Given the description of an element on the screen output the (x, y) to click on. 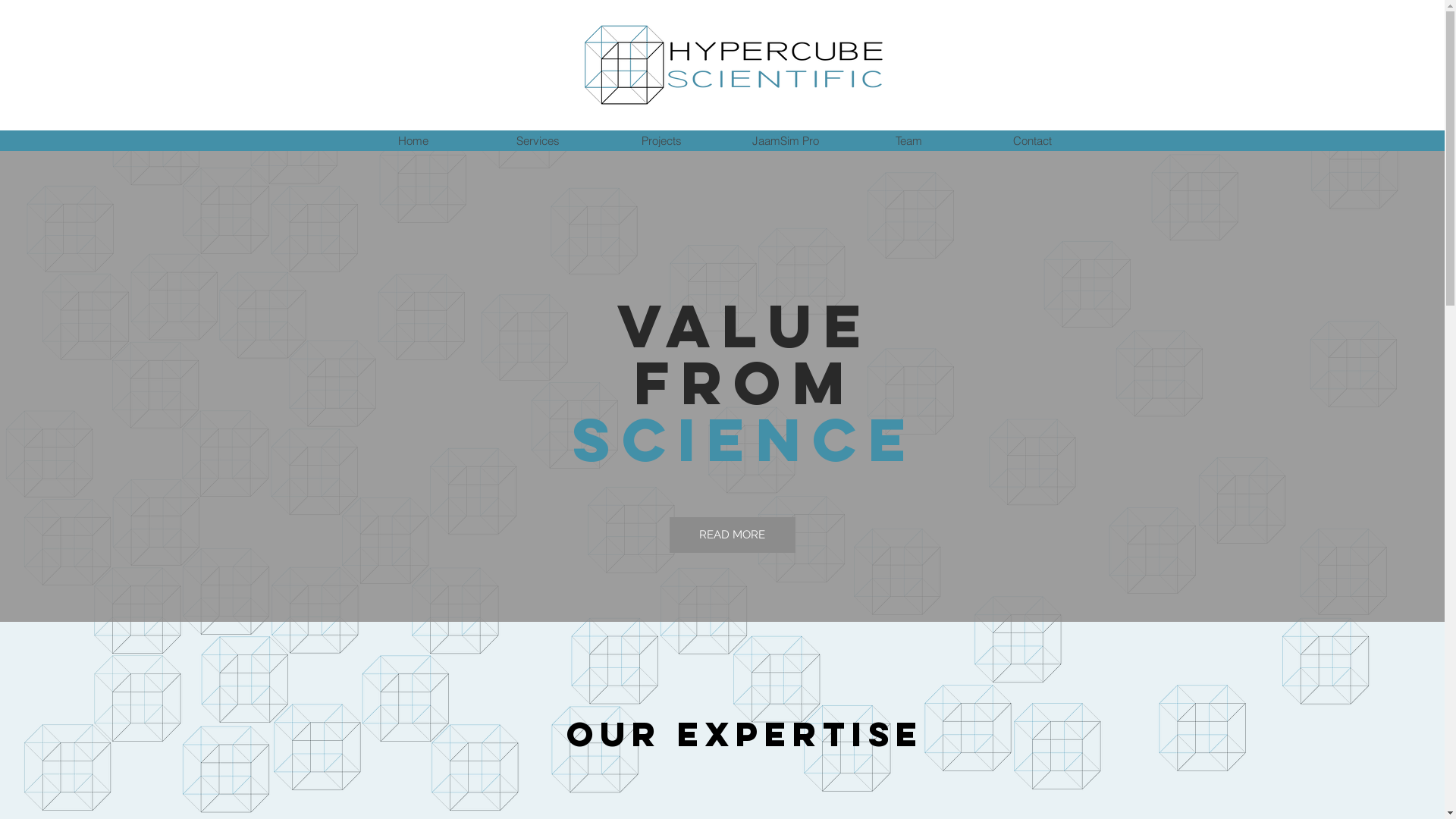
Services Element type: text (536, 140)
Projects Element type: text (660, 140)
JaamSim Pro Element type: text (785, 140)
Team Element type: text (907, 140)
Contact Element type: text (1032, 140)
Home Element type: text (412, 140)
